Given the description of an element on the screen output the (x, y) to click on. 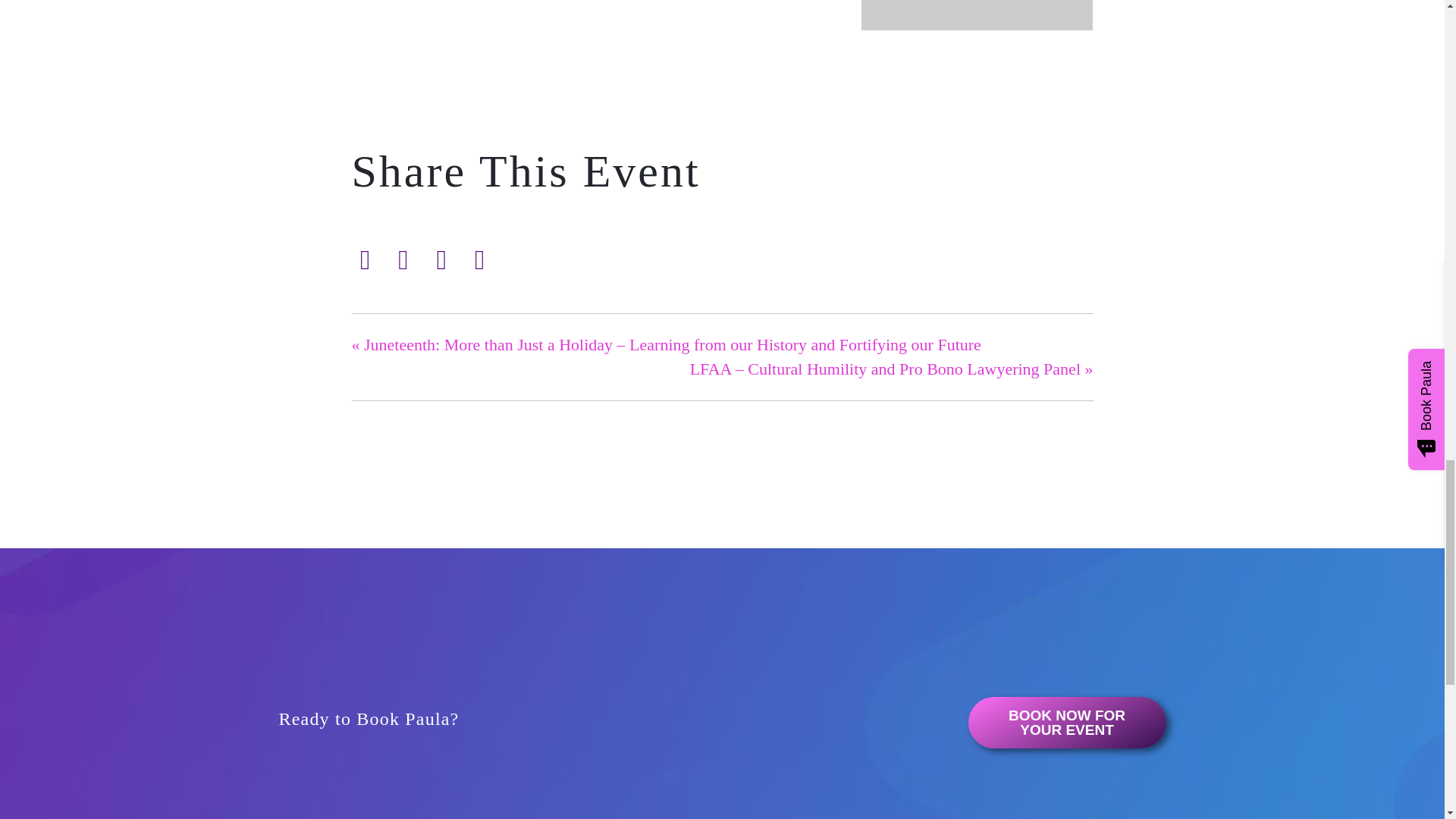
Facebook (368, 259)
WhatsApp (478, 259)
Email (441, 259)
Twitter (403, 259)
